Given the description of an element on the screen output the (x, y) to click on. 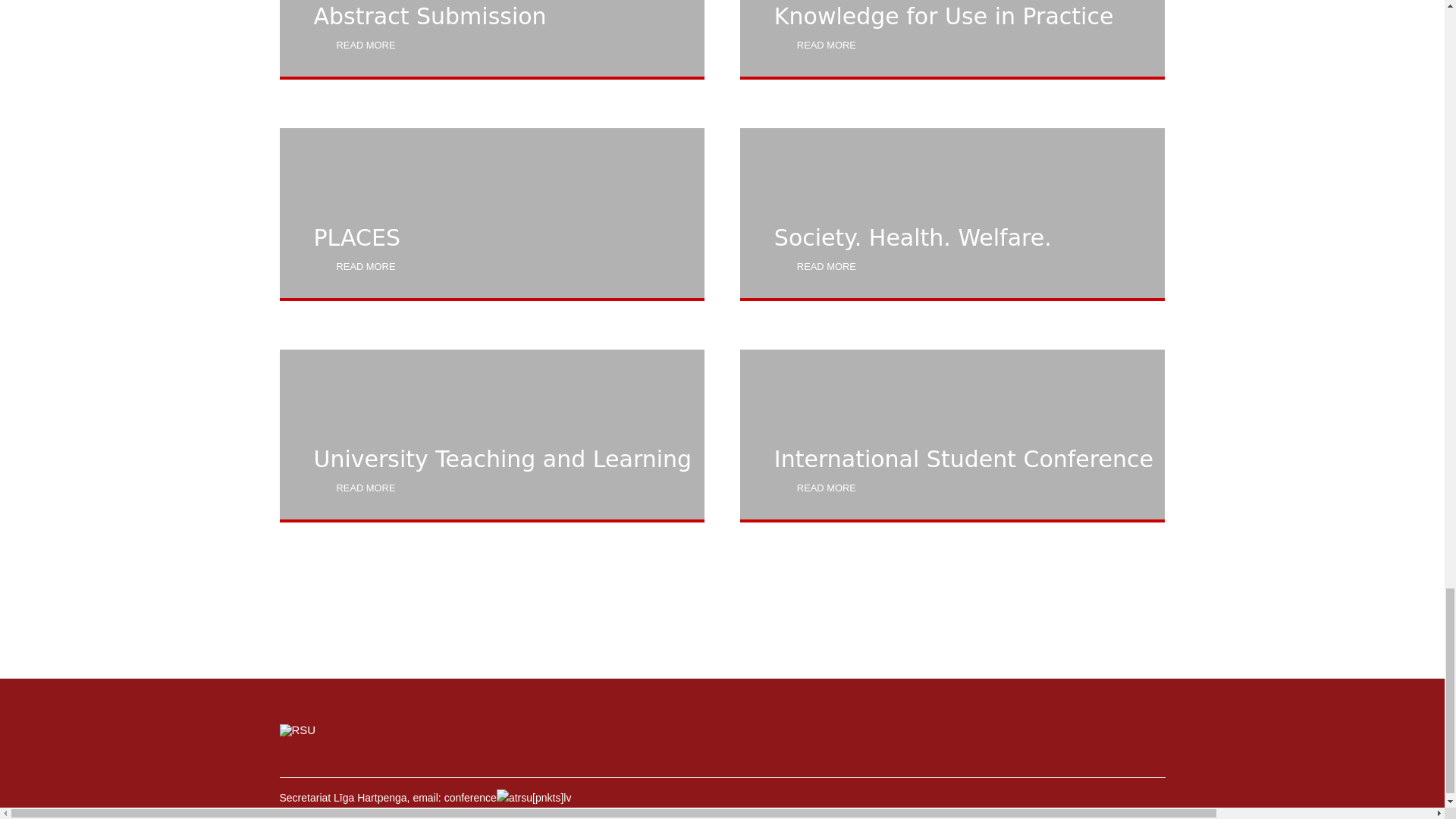
International Student Conference (952, 435)
PLACES (491, 214)
Knowledge for Use in Practice (952, 39)
Abstract Submission (491, 39)
Society. Health. Welfare. (952, 214)
University Teaching and Learning (491, 435)
